Given the description of an element on the screen output the (x, y) to click on. 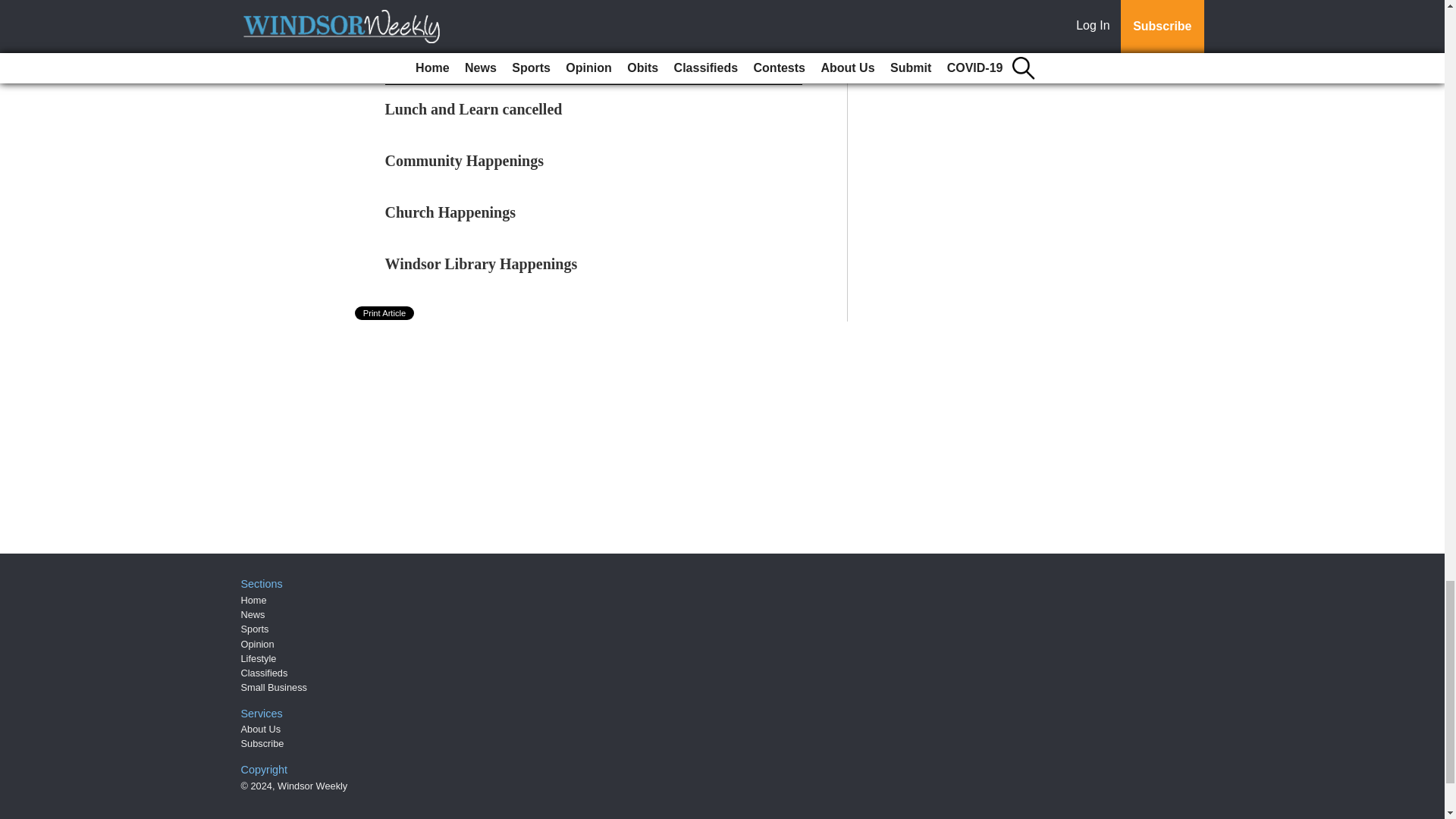
Lifestyle (258, 658)
About Us (261, 728)
Sports (255, 628)
Lunch and Learn cancelled (473, 108)
Lunch and Learn cancelled (473, 108)
Home (253, 600)
Community Happenings (464, 160)
Church Happenings (450, 211)
Church Happenings (450, 211)
Small Business (274, 686)
Windsor Library Happenings (481, 263)
Classifieds (264, 672)
Subscribe (262, 743)
Community Happenings (464, 160)
Windsor Library Happenings (481, 263)
